Given the description of an element on the screen output the (x, y) to click on. 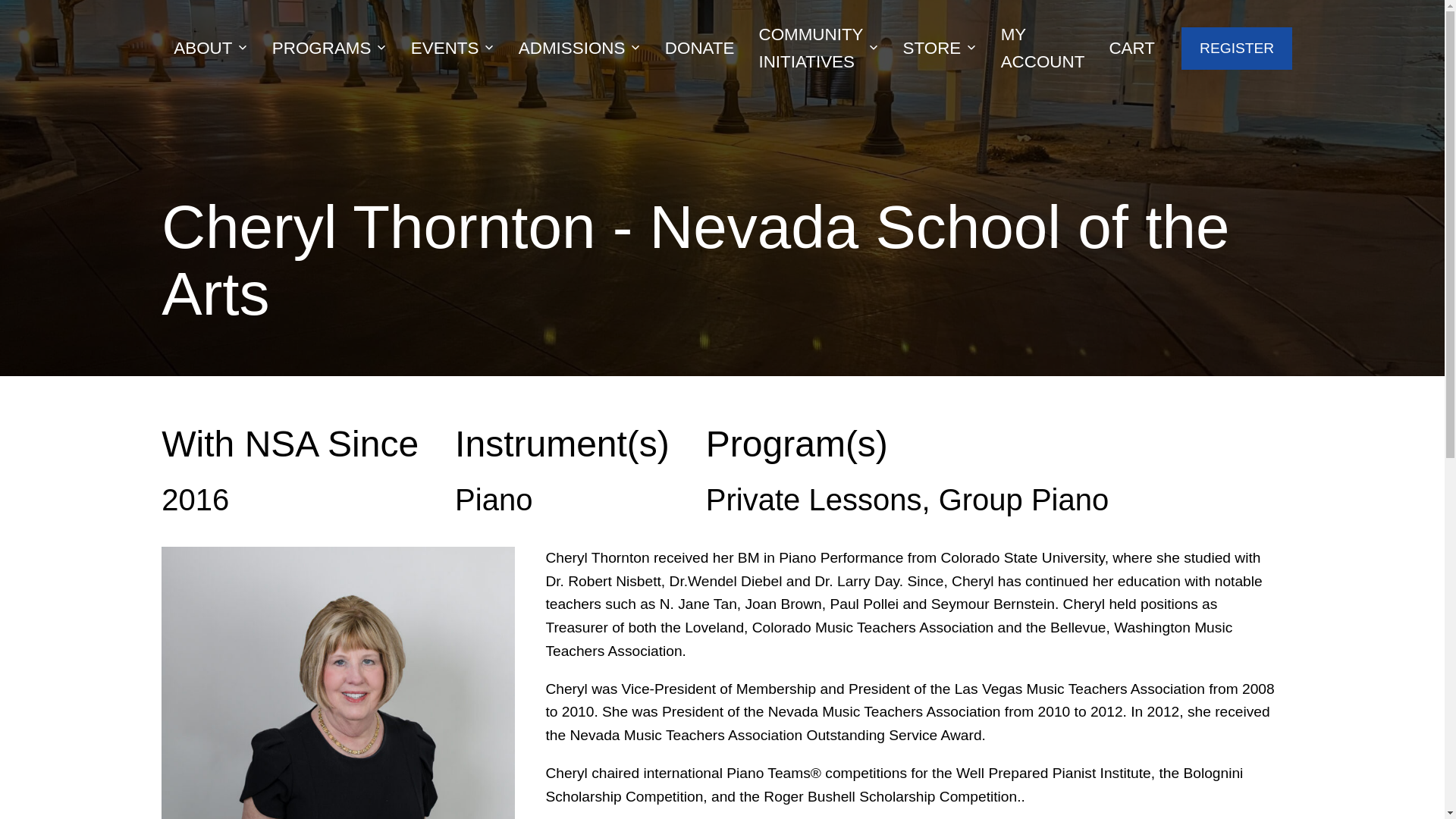
COMMUNITY INITIATIVES (817, 48)
DONATE (699, 48)
ADMISSIONS (579, 48)
EVENTS (452, 48)
PROGRAMS (329, 48)
ABOUT (210, 48)
